Given the description of an element on the screen output the (x, y) to click on. 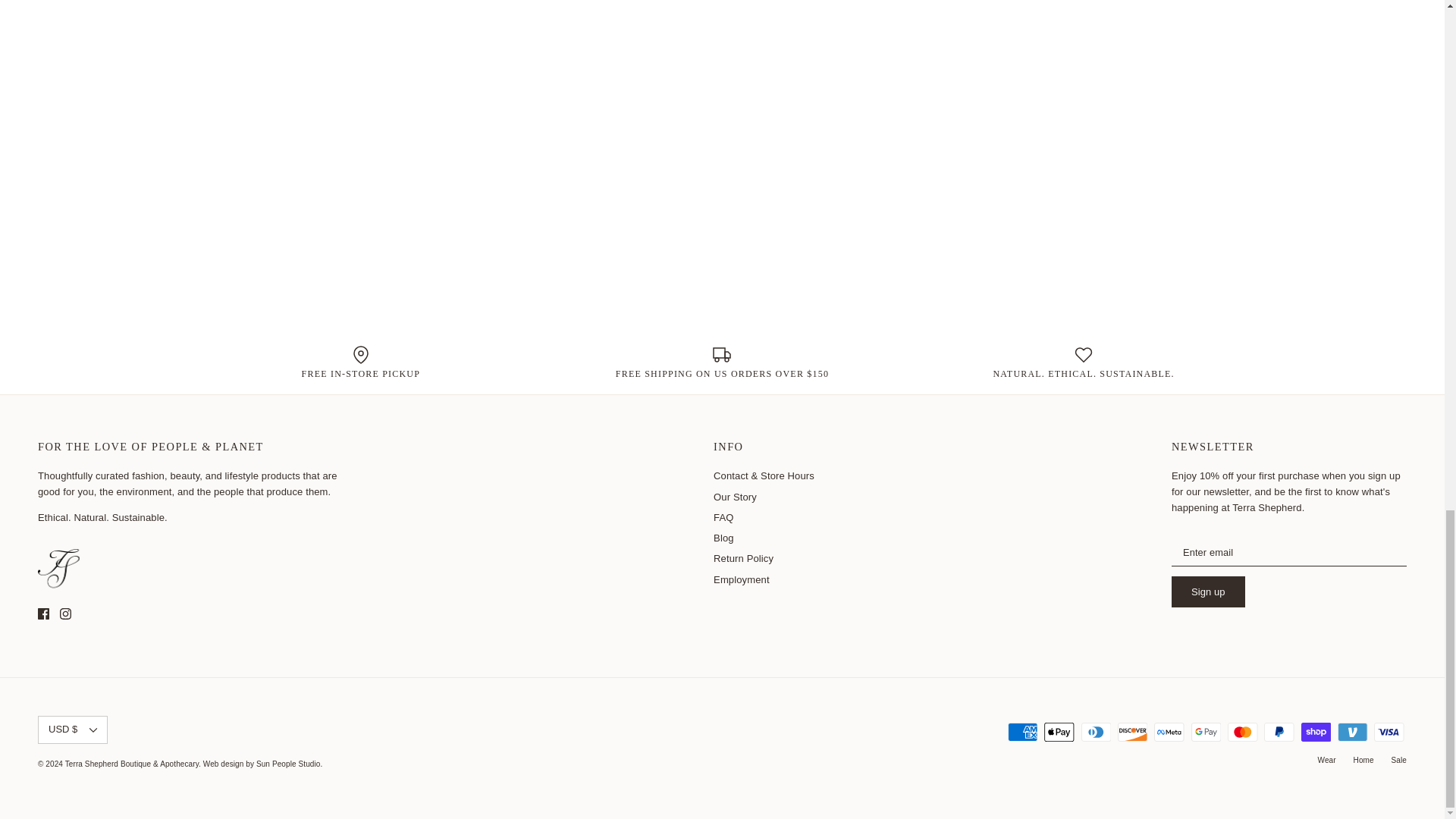
Apple Pay (1058, 732)
American Express (1022, 732)
Mastercard (1242, 732)
Google Pay (1206, 732)
Facebook (43, 613)
Instagram (65, 613)
Discover (1132, 732)
Meta Pay (1168, 732)
Diners Club (1095, 732)
